Given the description of an element on the screen output the (x, y) to click on. 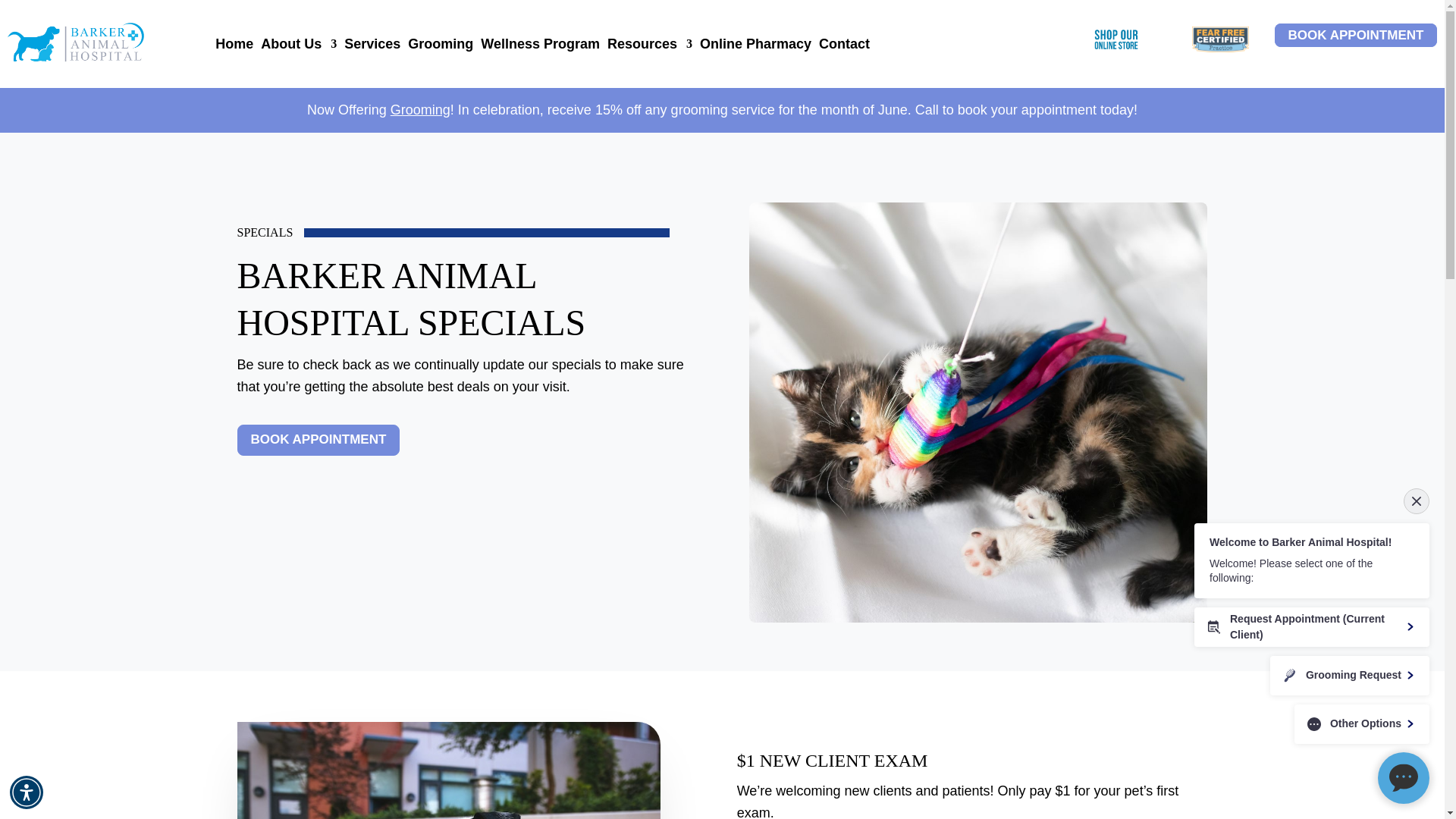
Accessibility Menu (26, 792)
